Given the description of an element on the screen output the (x, y) to click on. 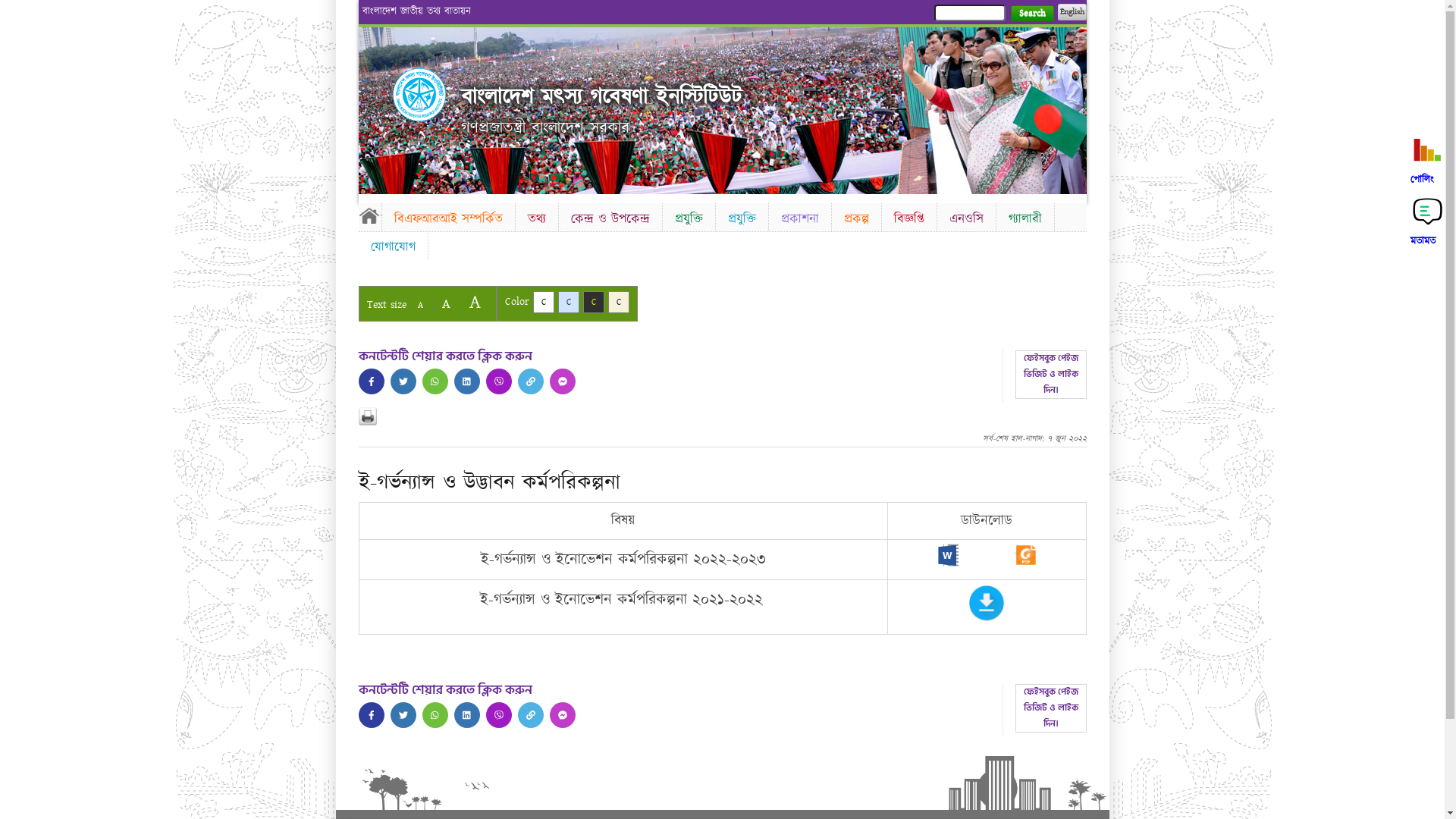
A Element type: text (445, 303)
A Element type: text (474, 302)
C Element type: text (568, 302)
A Element type: text (419, 304)
C Element type: text (618, 302)
C Element type: text (542, 302)
C Element type: text (592, 302)
Search Element type: text (1031, 13)
English Element type: text (1071, 11)
Home Element type: hover (368, 215)
Home Element type: hover (418, 94)
